Given the description of an element on the screen output the (x, y) to click on. 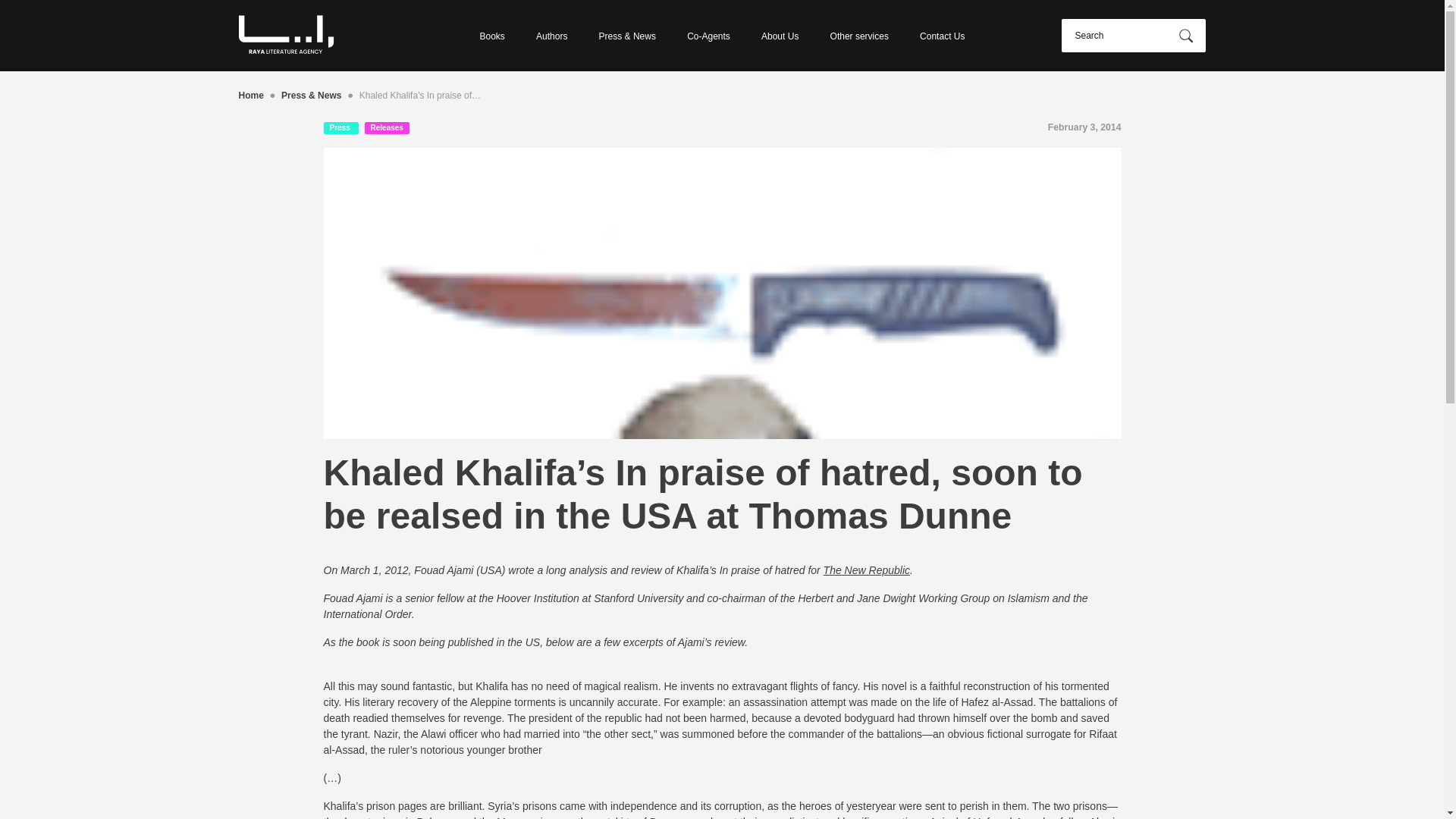
Co-Agents (708, 35)
The New Republic (867, 570)
Authors (551, 35)
Home (250, 95)
About Us (779, 35)
Books (491, 35)
Contact Us (941, 35)
Other services (858, 35)
